Given the description of an element on the screen output the (x, y) to click on. 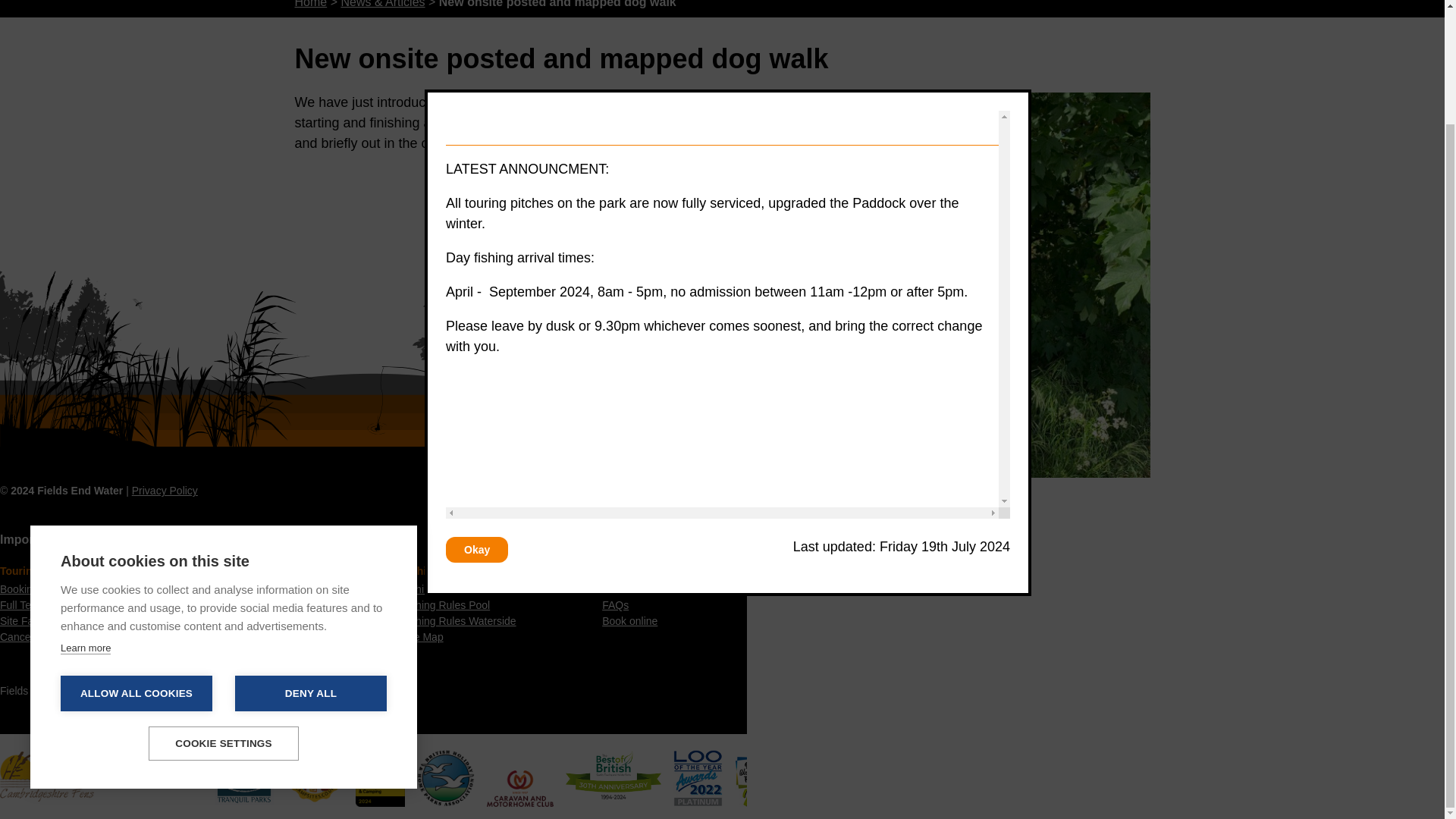
DENY ALL (310, 557)
COOKIE SETTINGS (223, 607)
Privacy Policy (165, 490)
Learn more (85, 512)
Tranquil Parks (237, 776)
Best of British (607, 776)
ALLOW ALL COOKIES (136, 557)
